Given the description of an element on the screen output the (x, y) to click on. 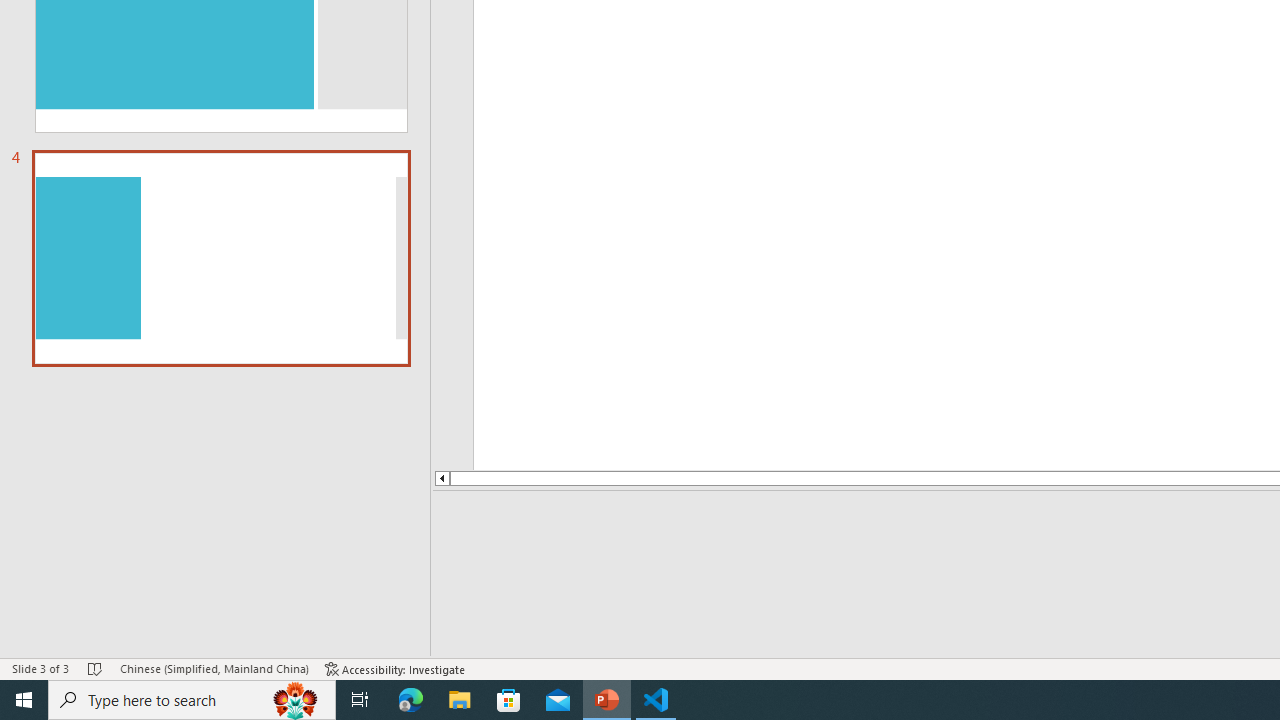
Slide (221, 258)
Line up (398, 478)
Spell Check No Errors (95, 668)
Accessibility Checker Accessibility: Investigate (395, 668)
